Given the description of an element on the screen output the (x, y) to click on. 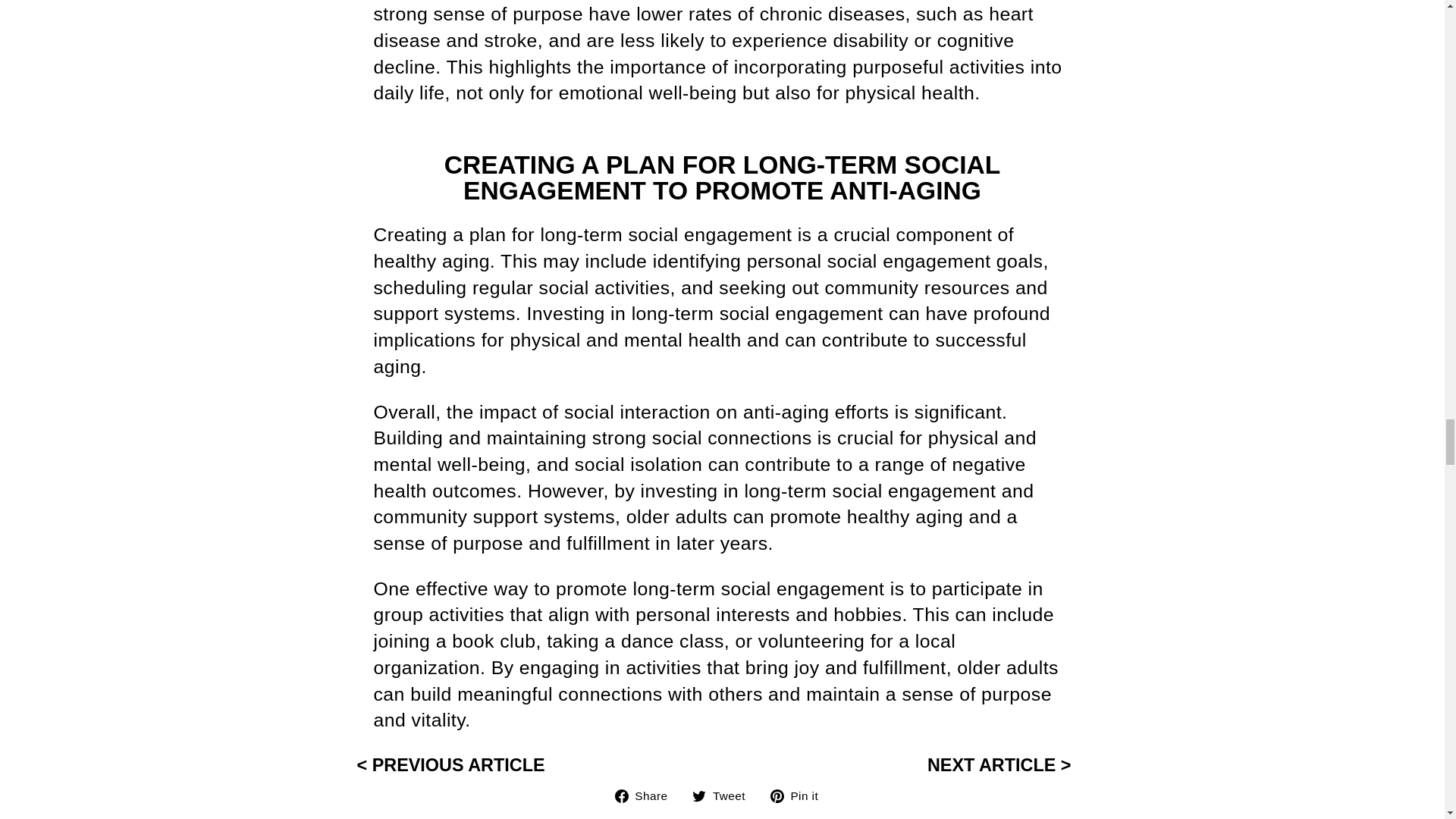
Pin on Pinterest (799, 794)
Tweet on Twitter (799, 794)
Share on Facebook (646, 794)
